Given the description of an element on the screen output the (x, y) to click on. 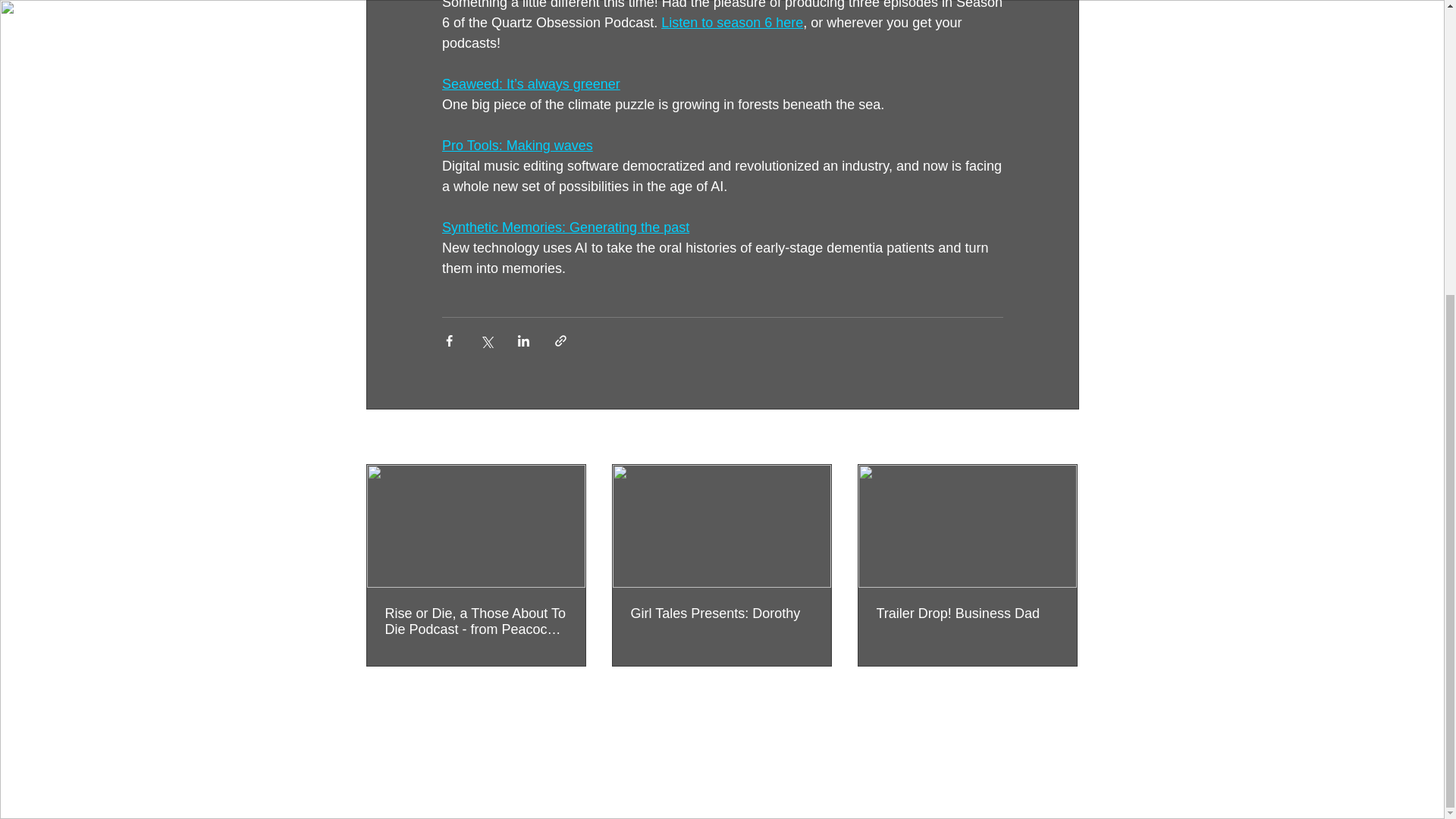
See All (1061, 437)
Girl Tales Presents: Dorothy (721, 613)
Listen to season 6 here (732, 22)
Synthetic Memories: Generating the past (564, 227)
Pro Tools: Making waves (516, 145)
Trailer Drop! Business Dad (967, 613)
